Given the description of an element on the screen output the (x, y) to click on. 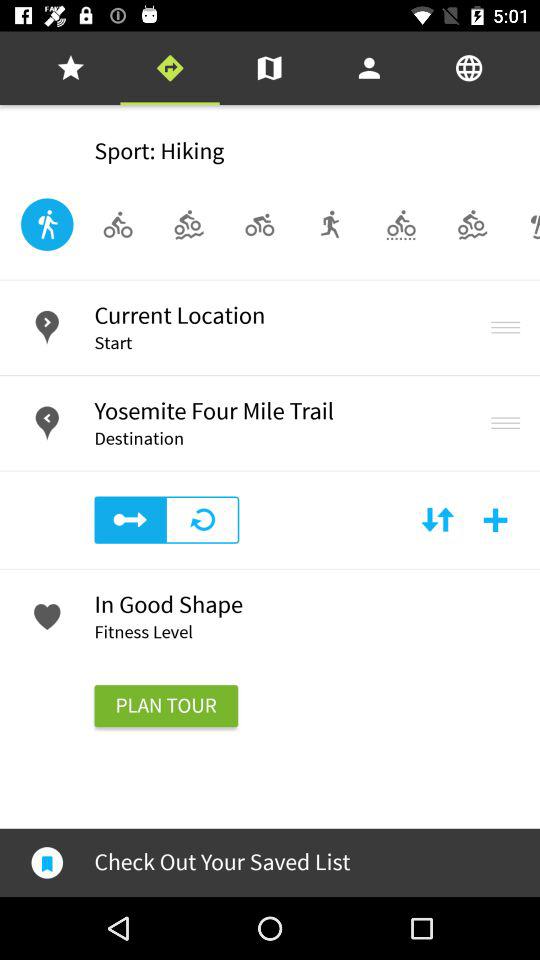
click the item above sport: hiking item (269, 68)
